Given the description of an element on the screen output the (x, y) to click on. 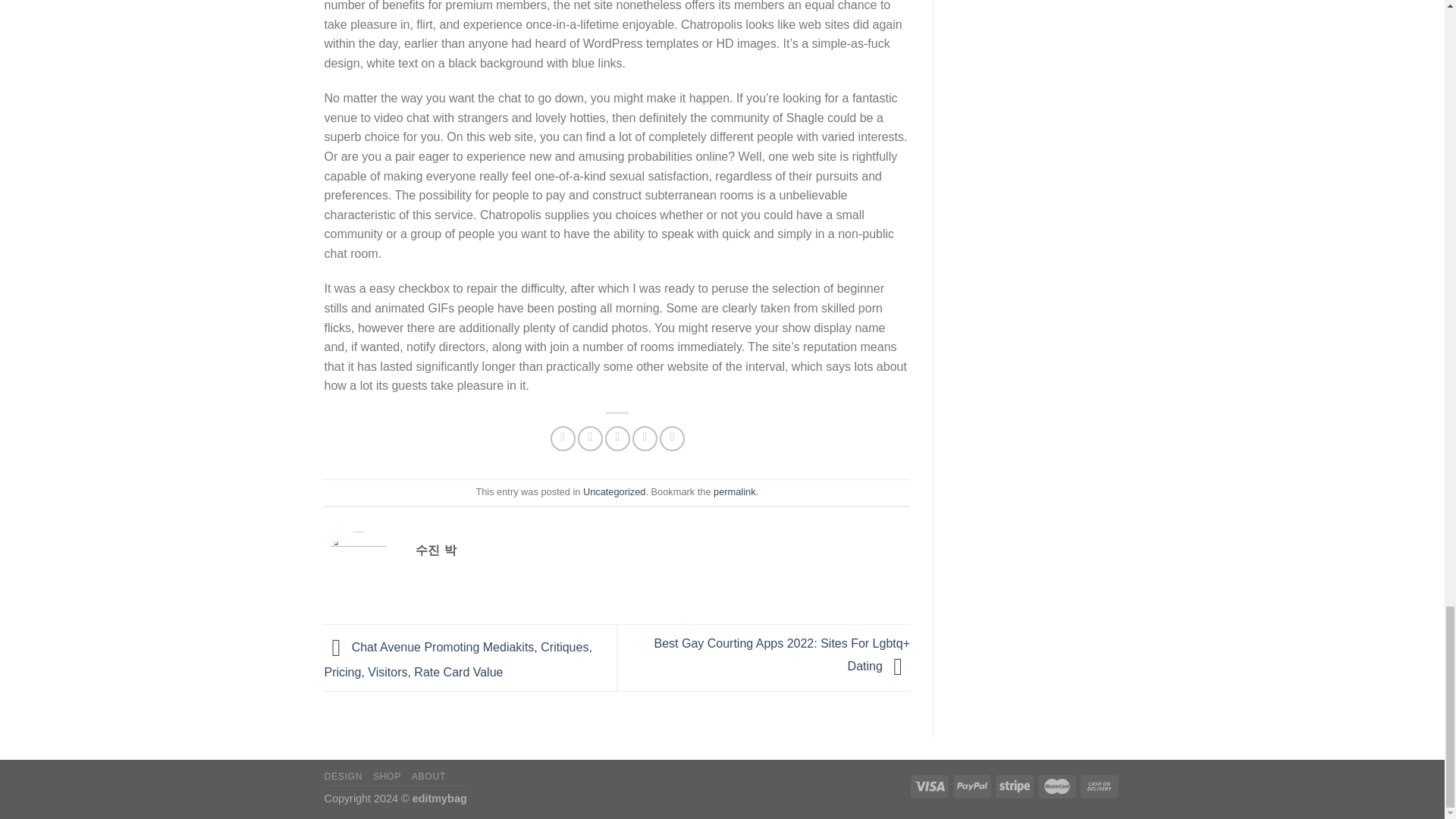
Share on Twitter (590, 438)
Uncategorized (614, 491)
Share on Facebook (562, 438)
permalink (734, 491)
Email to a Friend (617, 438)
Pin on Pinterest (644, 438)
Share on LinkedIn (671, 438)
